Given the description of an element on the screen output the (x, y) to click on. 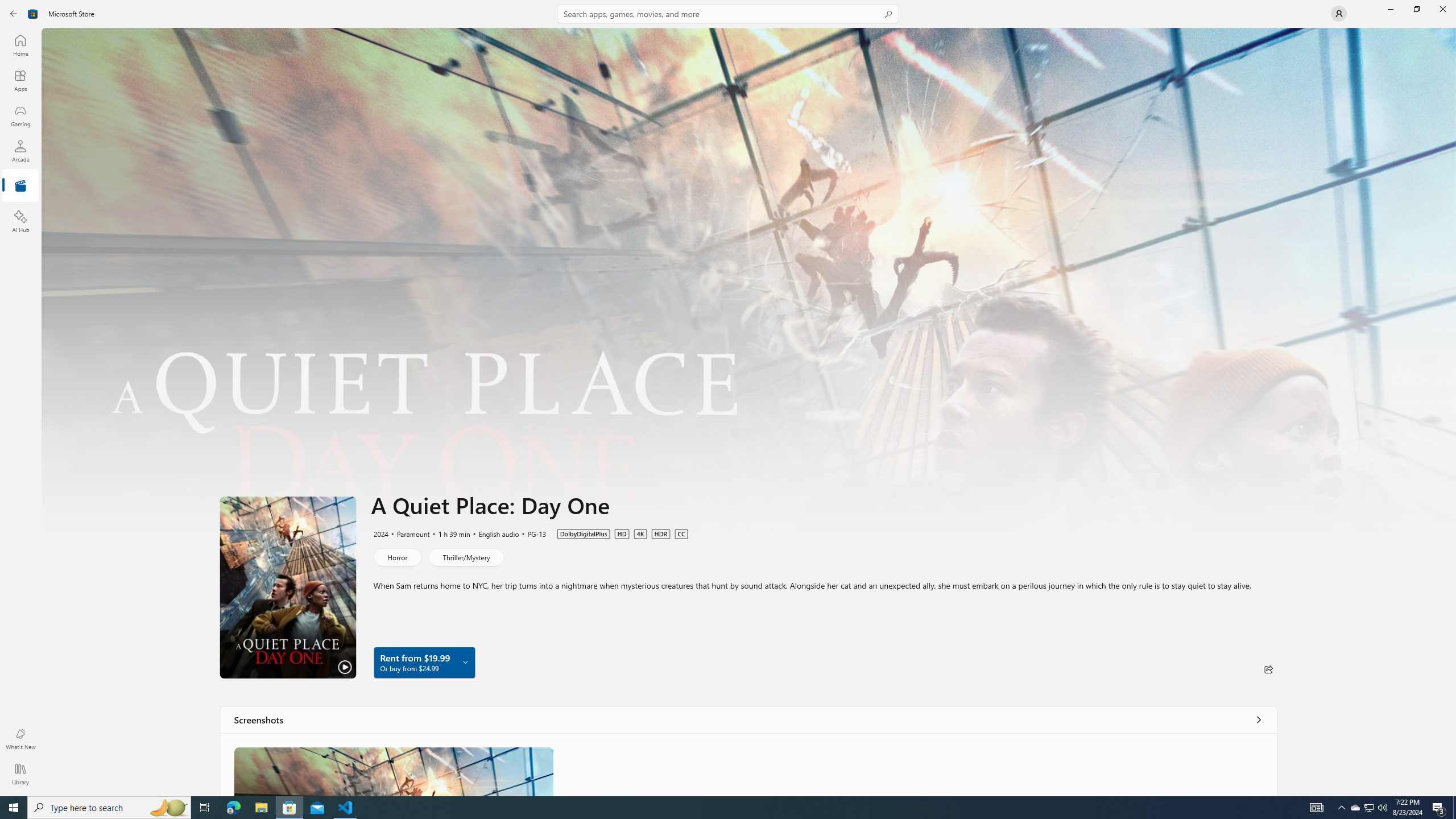
Minimize Microsoft Store (1390, 9)
Apps (20, 80)
Library (20, 773)
Back (13, 13)
Share (1267, 669)
User profile (1338, 13)
Close Microsoft Store (1442, 9)
Rent from $19.99 Or buy from $24.99 (424, 662)
Play Trailer (287, 587)
AutomationID: NavigationControl (728, 398)
Class: Image (393, 771)
Class: ListViewItem (393, 771)
Horror (396, 556)
PG-13 (531, 533)
2024 (379, 533)
